Given the description of an element on the screen output the (x, y) to click on. 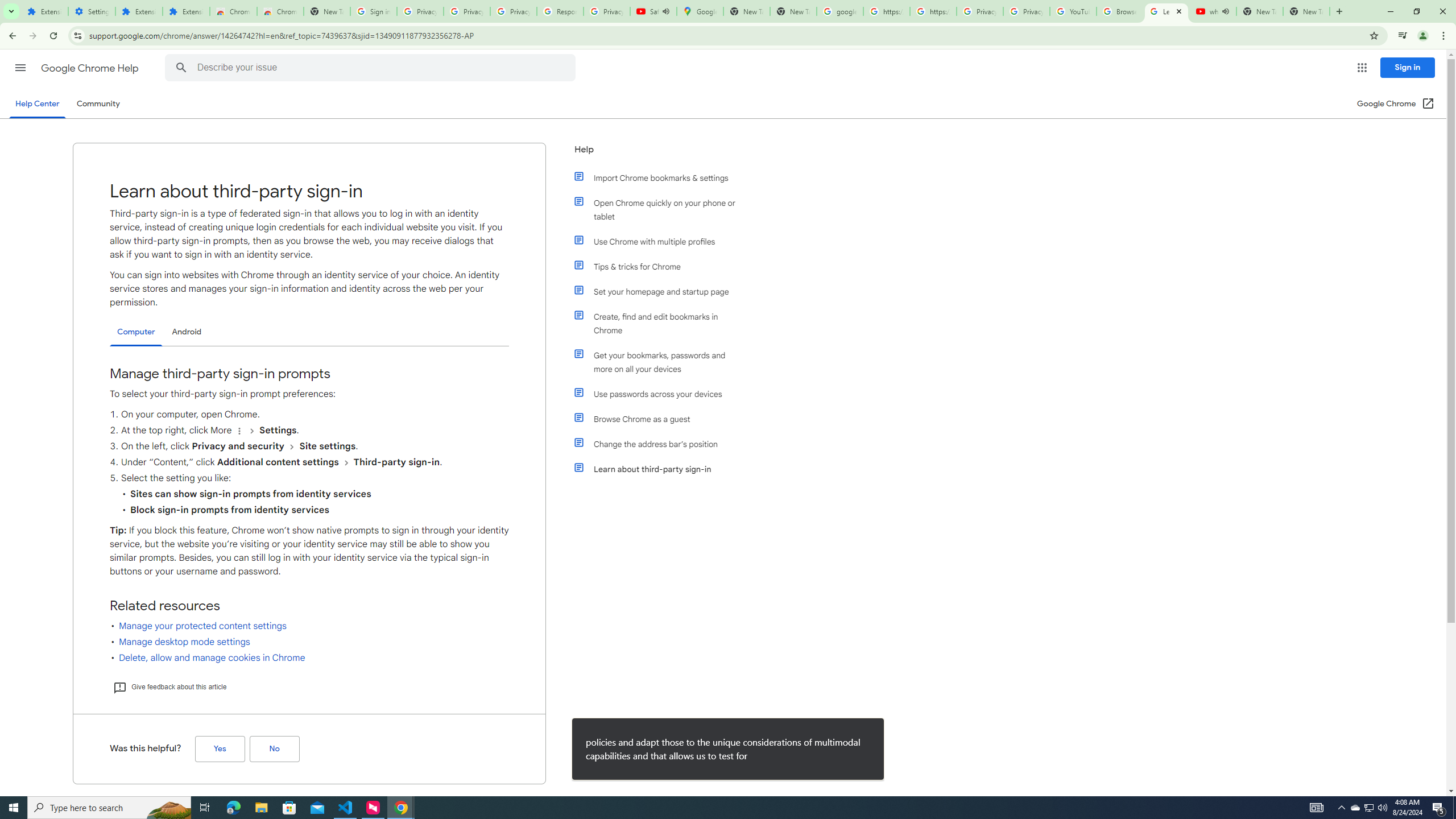
https://scholar.google.com/ (933, 11)
Tips & tricks for Chrome (661, 266)
Main menu (20, 67)
Yes (Was this helpful?) (219, 749)
Import Chrome bookmarks & settings (661, 177)
Browse Chrome as a guest (661, 419)
Organize (239, 430)
Computer (136, 332)
Open Chrome quickly on your phone or tablet (661, 209)
Browse Chrome as a guest - Computer - Google Chrome Help (1120, 11)
